Given the description of an element on the screen output the (x, y) to click on. 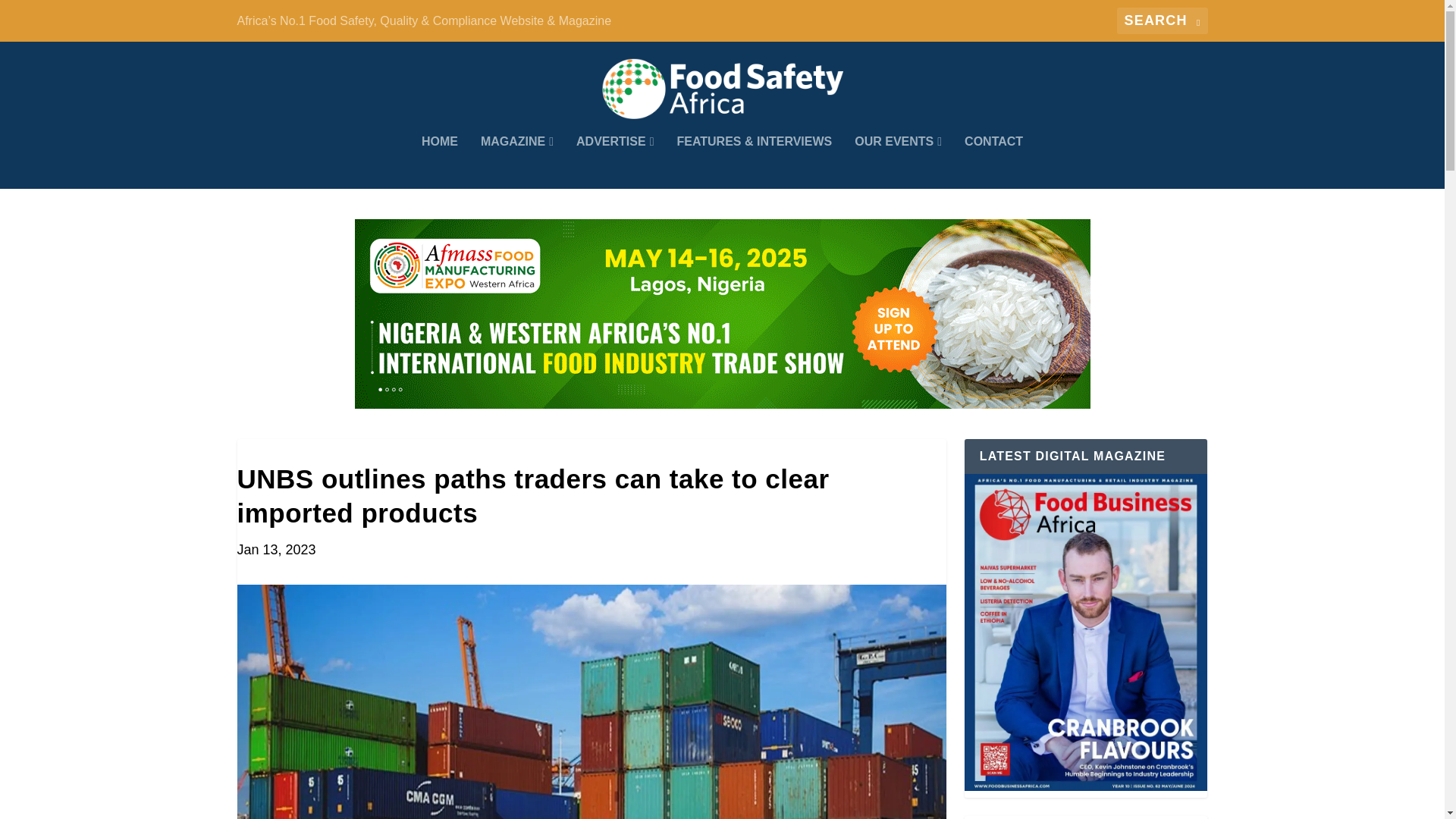
HOME (440, 162)
OUR EVENTS (898, 162)
MAGAZINE (516, 162)
Search for: (1161, 20)
ADVERTISE (614, 162)
CONTACT (993, 162)
LATEST DIGITAL MAGAZINE (1085, 632)
